Given the description of an element on the screen output the (x, y) to click on. 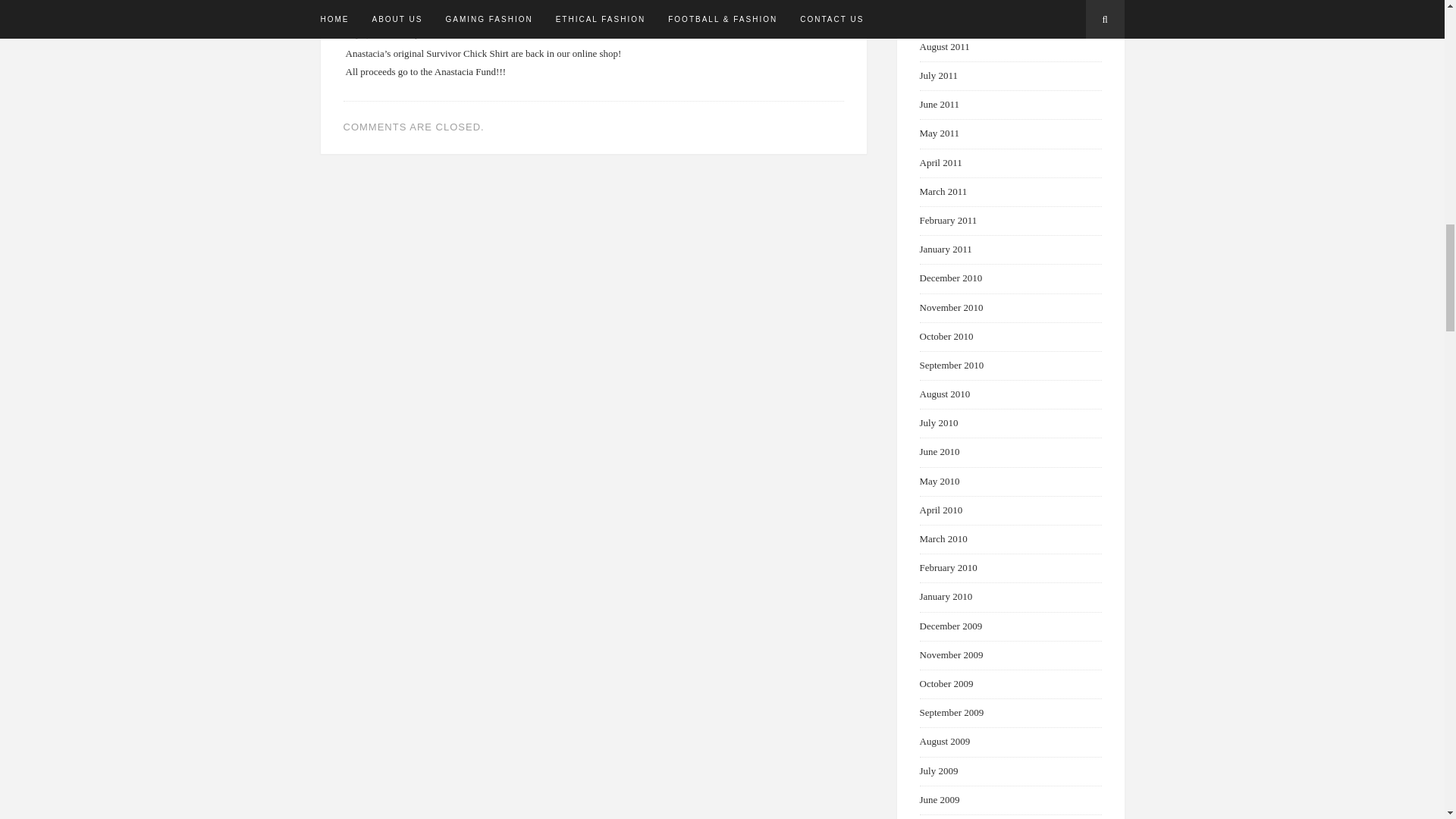
BABS (360, 20)
